Given the description of an element on the screen output the (x, y) to click on. 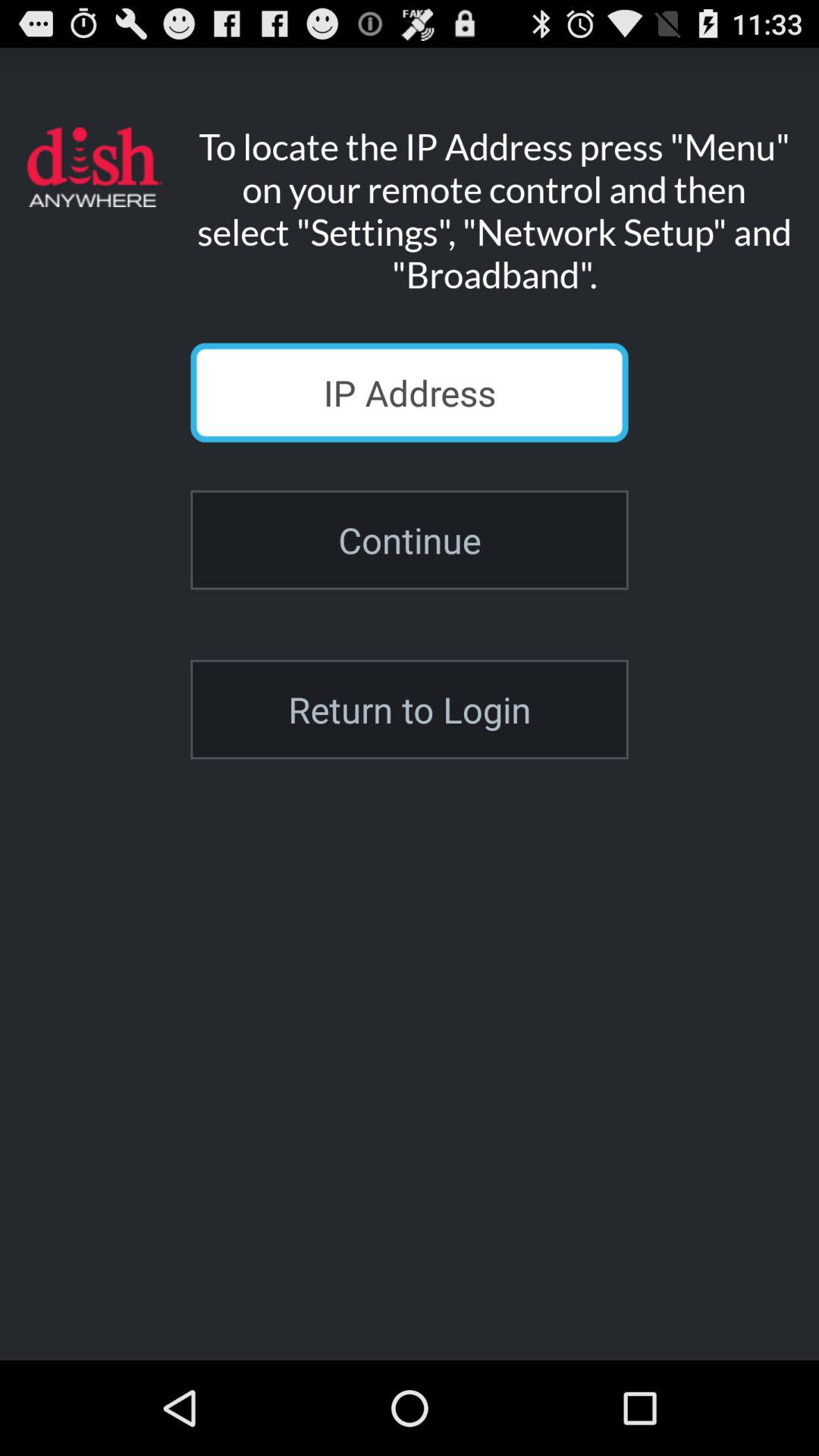
turn on item below to locate the (409, 392)
